Given the description of an element on the screen output the (x, y) to click on. 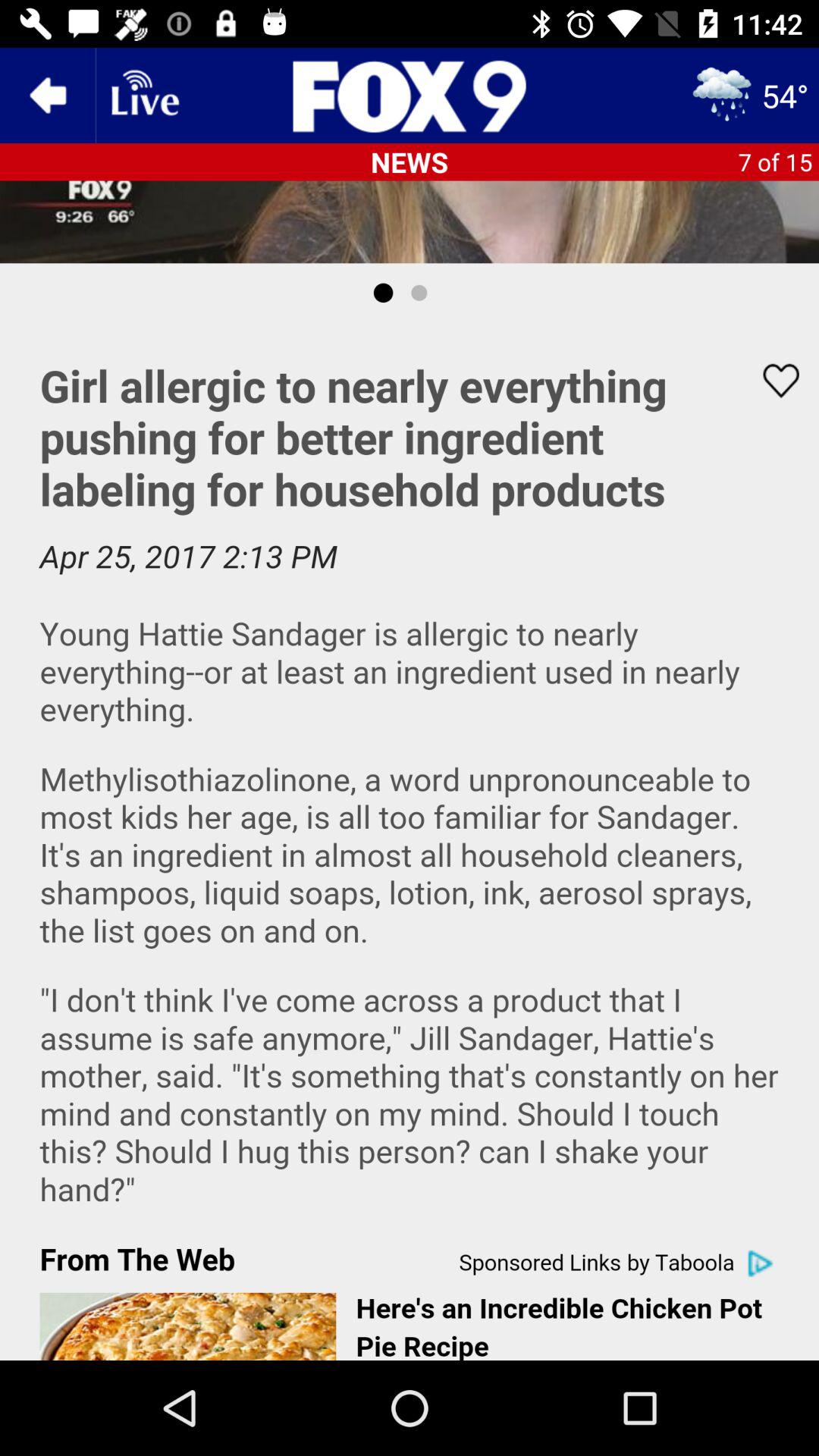
go to live channel (143, 95)
